Given the description of an element on the screen output the (x, y) to click on. 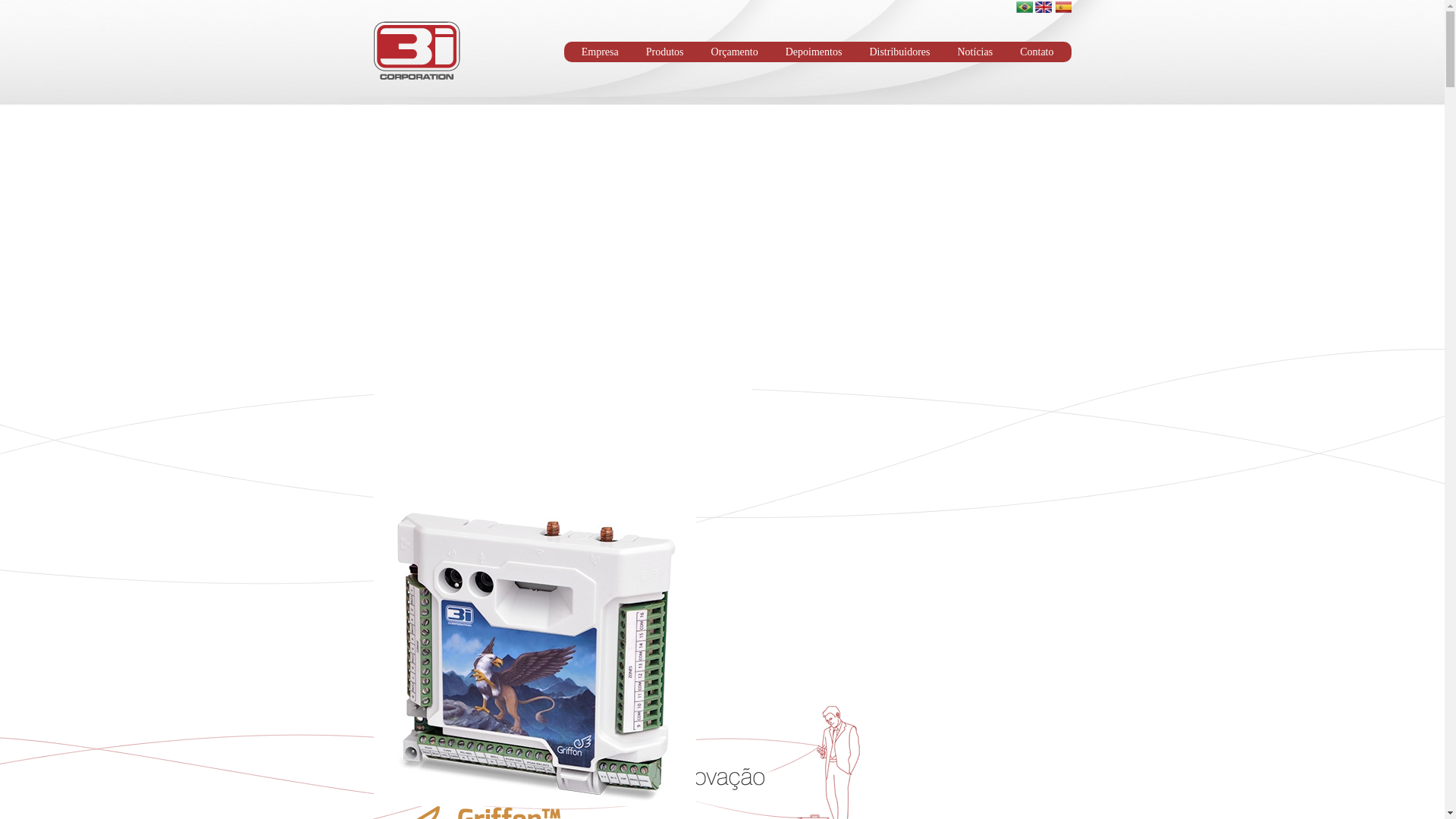
Produtos Element type: text (664, 51)
Distribuidores Element type: text (899, 51)
Contato Element type: text (1036, 51)
Depoimentos Element type: text (814, 51)
Empresa Element type: text (600, 51)
